Given the description of an element on the screen output the (x, y) to click on. 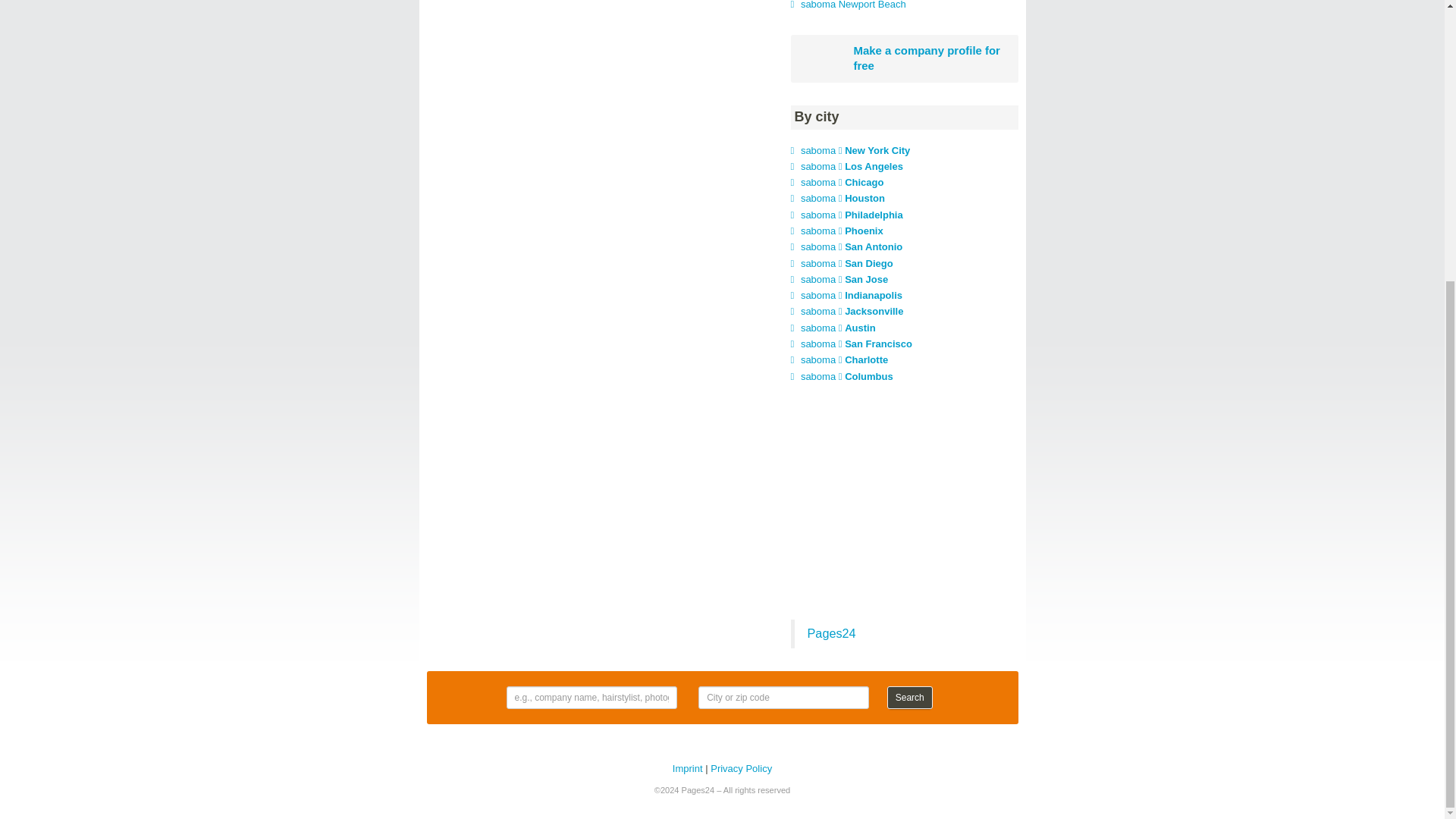
saboma Newport Beach (852, 4)
